Given the description of an element on the screen output the (x, y) to click on. 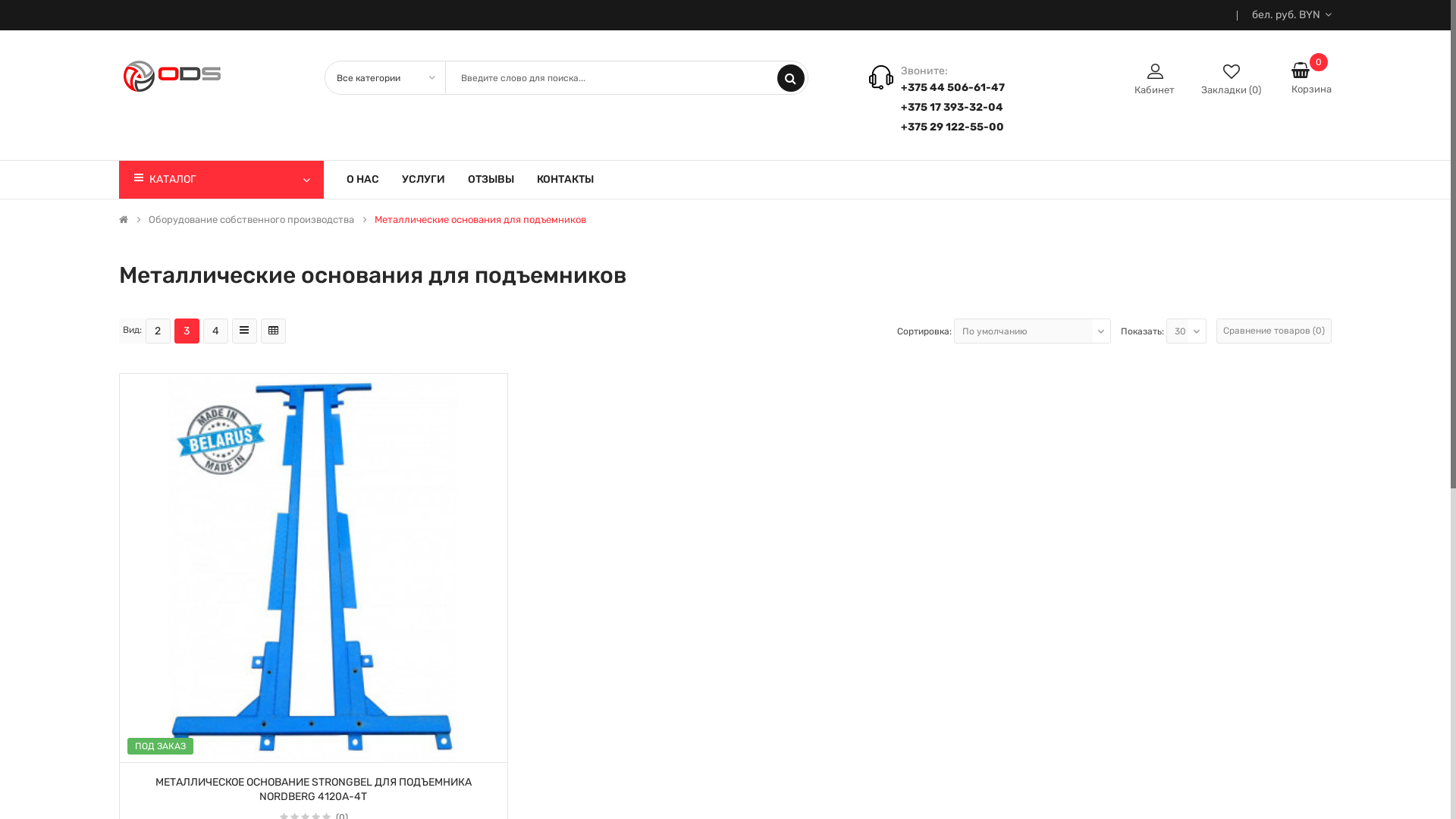
+375 17 393-32-04 Element type: text (951, 106)
+375 29 122-55-00 Element type: text (952, 126)
3 Element type: text (186, 330)
2 Element type: text (157, 330)
+375 44 506-61-47 Element type: text (952, 87)
4 Element type: text (215, 330)
